Given the description of an element on the screen output the (x, y) to click on. 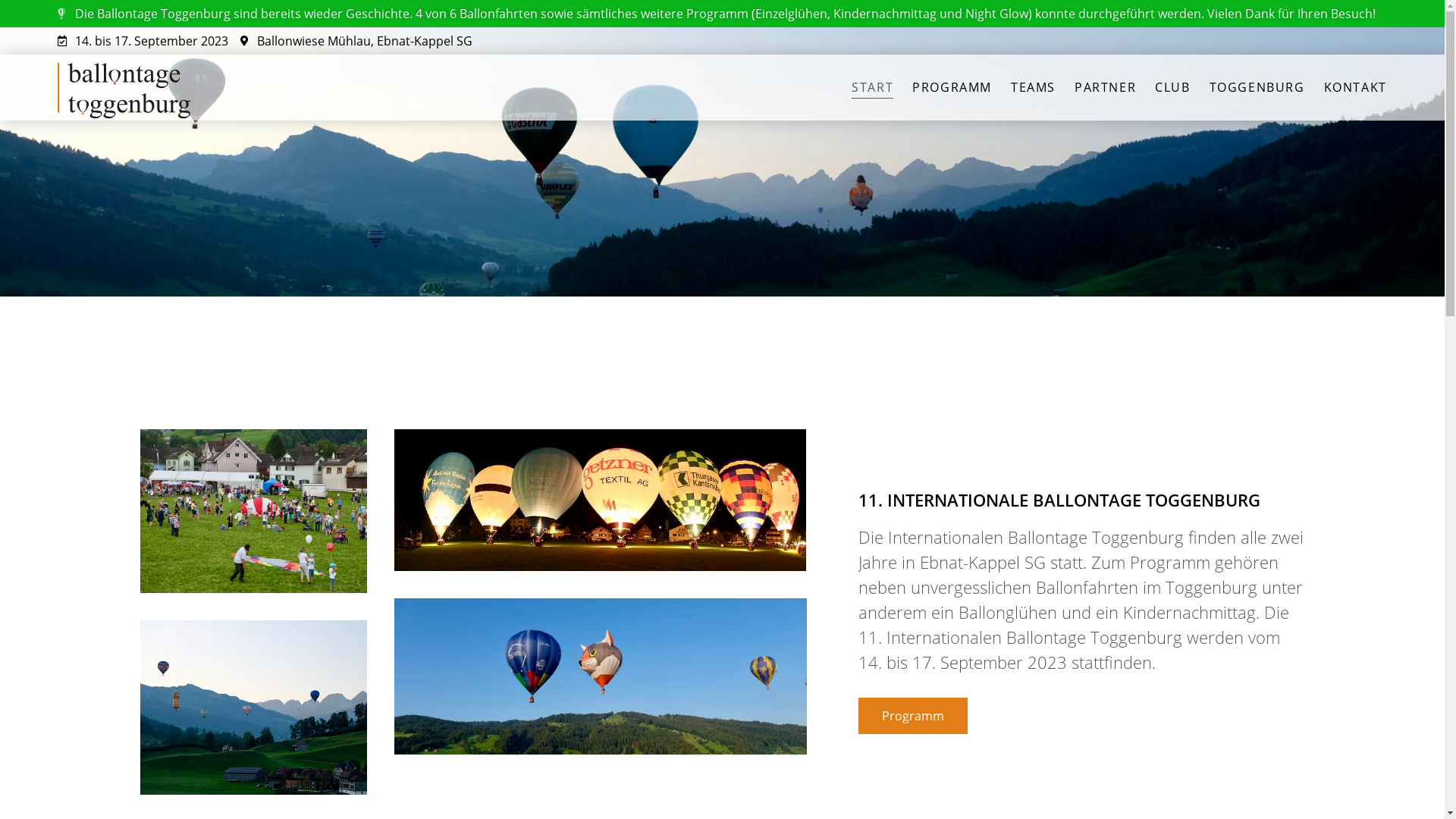
START Element type: text (872, 87)
PROGRAMM Element type: text (951, 87)
KONTAKT Element type: text (1355, 87)
14. bis 17. September 2023 Element type: text (142, 40)
PARTNER Element type: text (1104, 87)
Programm Element type: text (912, 715)
TOGGENBURG Element type: text (1257, 87)
CLUB Element type: text (1171, 87)
TEAMS Element type: text (1032, 87)
